Given the description of an element on the screen output the (x, y) to click on. 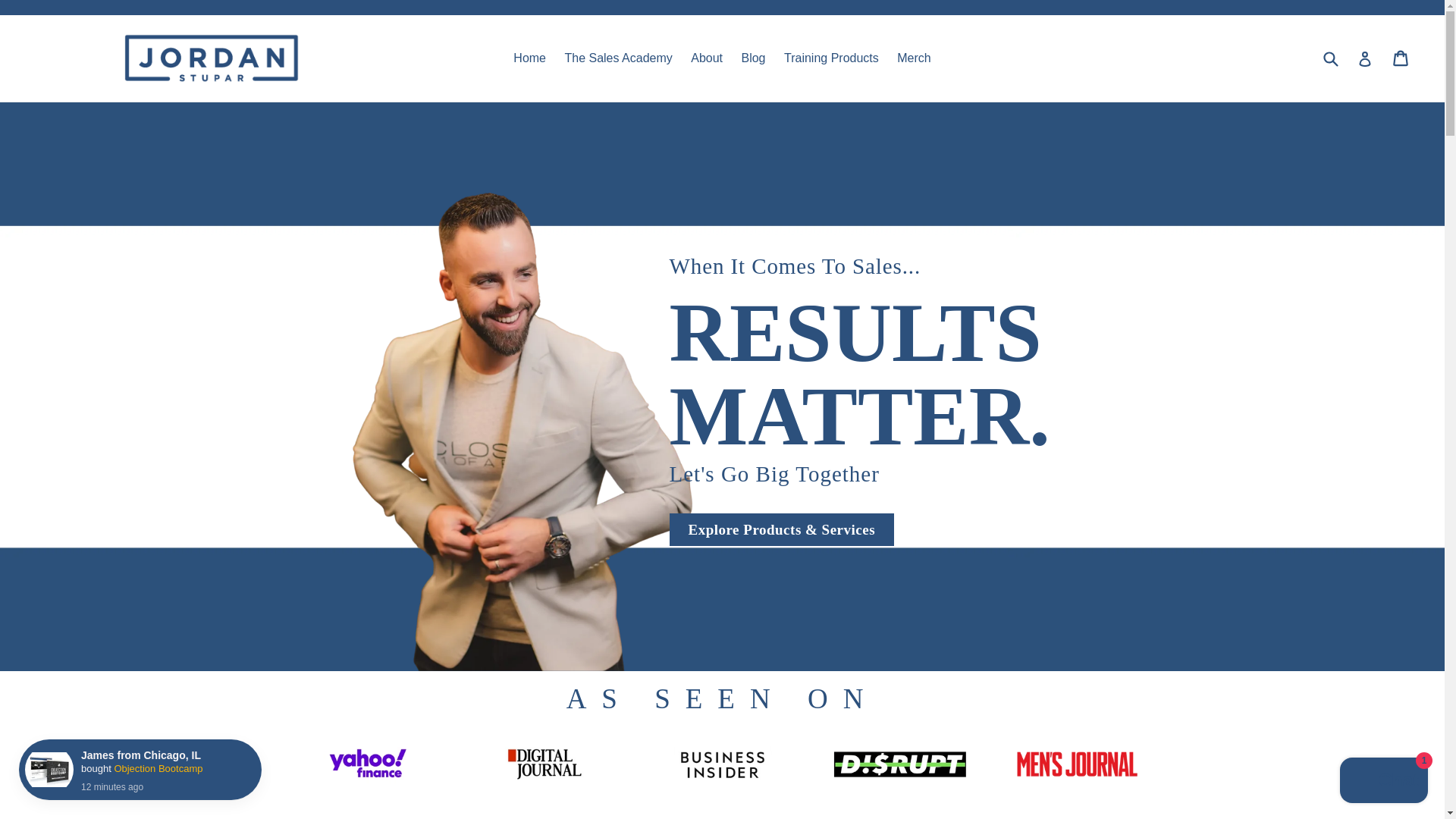
Blog (753, 57)
The Sales Academy (617, 57)
Training Products (831, 57)
About (706, 57)
Merch (913, 57)
Shopify online store chat (1383, 781)
Home (529, 57)
